Given the description of an element on the screen output the (x, y) to click on. 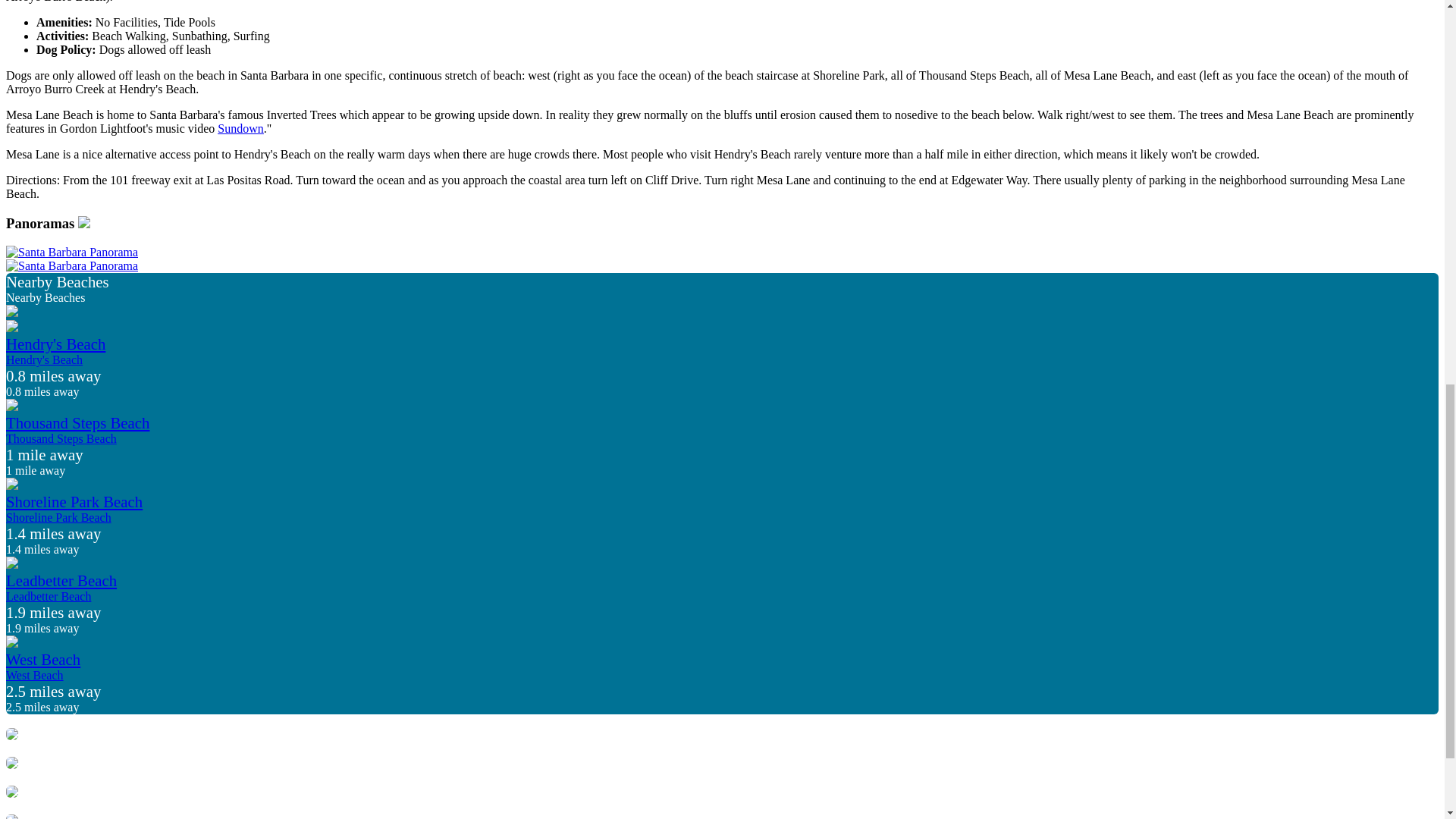
Sundown (239, 128)
Santa Barbara Panorama (71, 265)
Santa Barbara Panorama (71, 252)
